Given the description of an element on the screen output the (x, y) to click on. 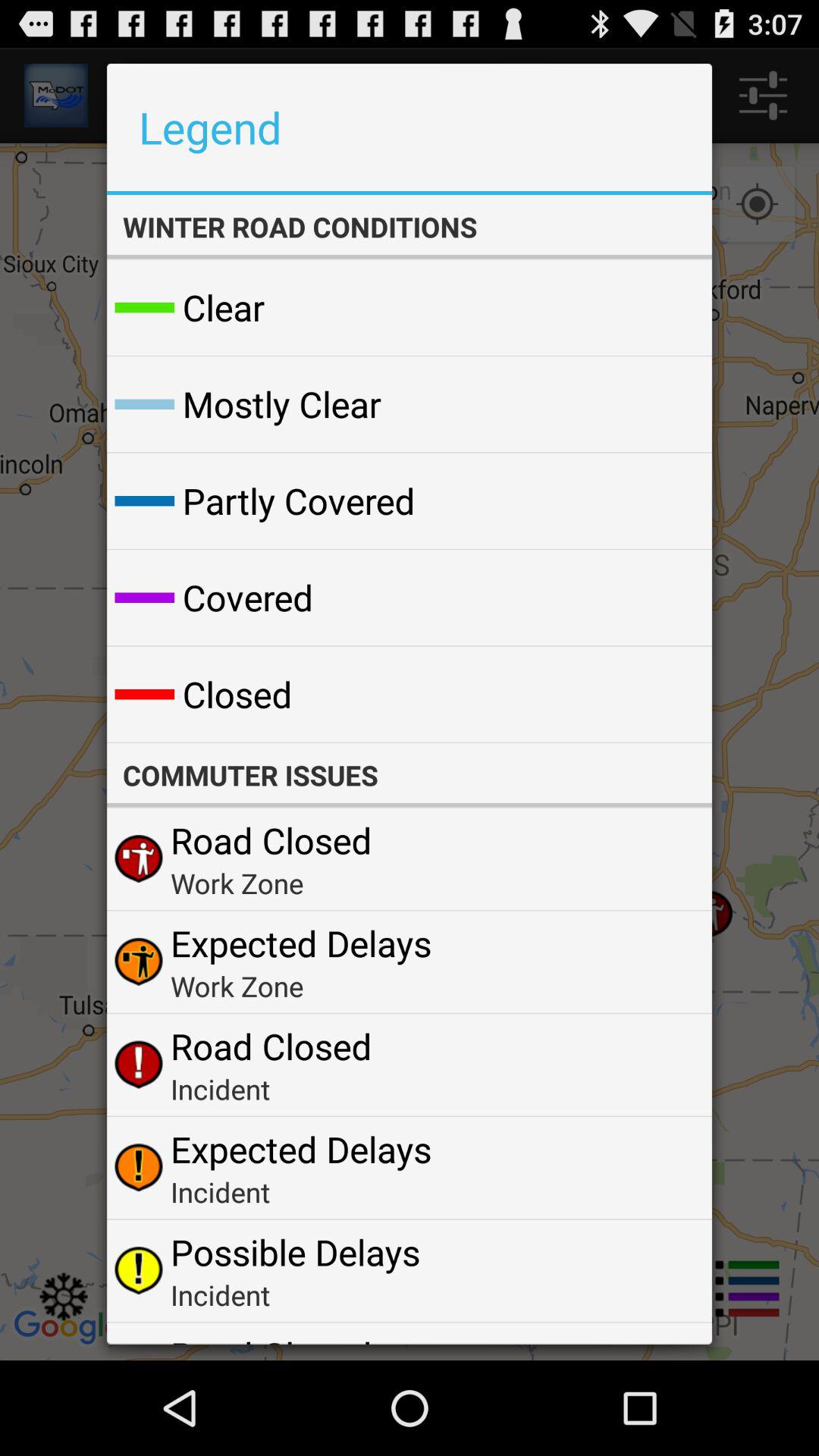
turn off possible delays item (295, 1251)
